Given the description of an element on the screen output the (x, y) to click on. 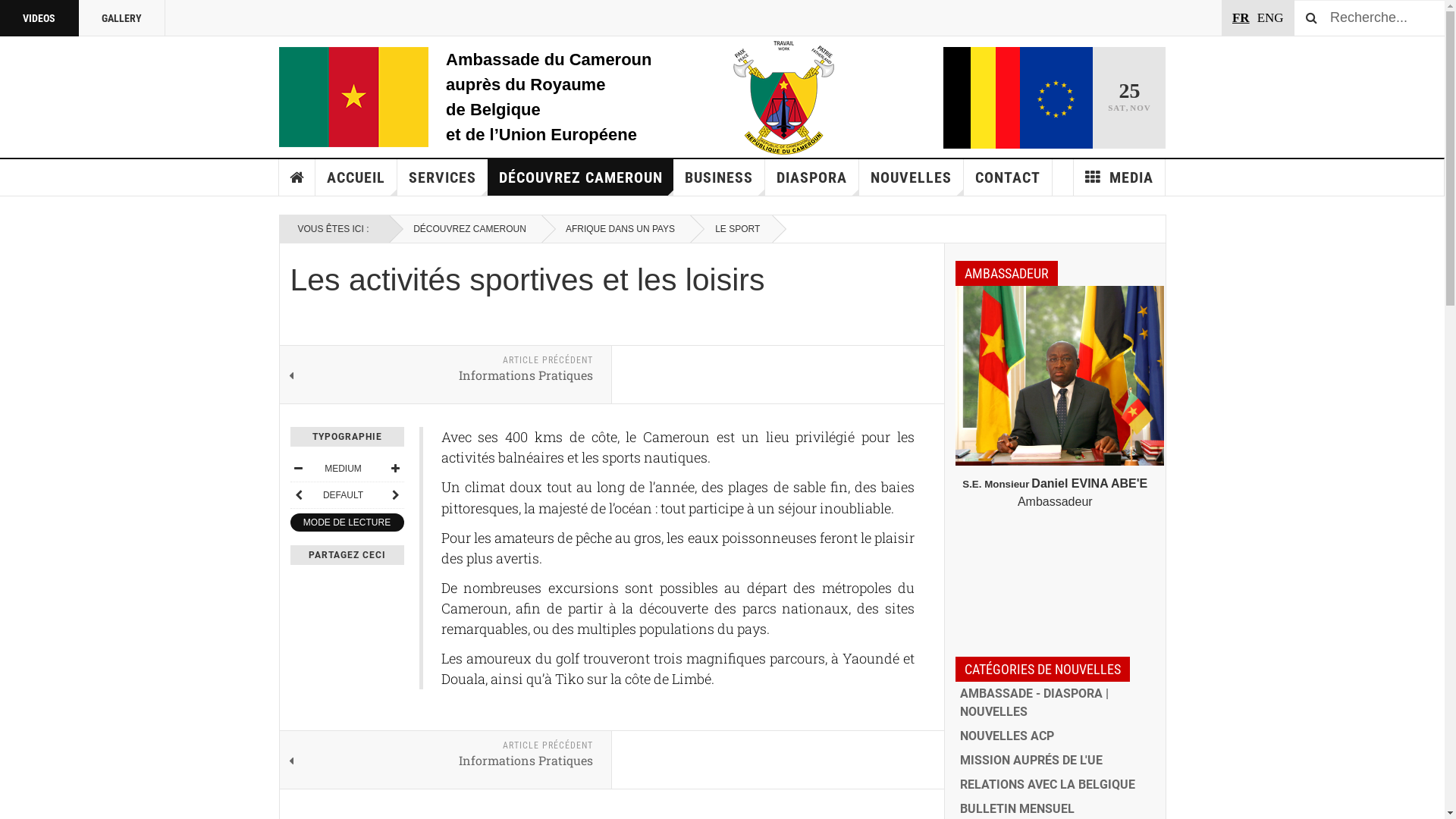
ACCUEIL Element type: text (297, 177)
NOUVELLES Element type: text (911, 177)
MODE DE LECTURE Element type: text (346, 522)
RELATIONS AVEC LA BELGIQUE Element type: text (1054, 784)
NOUVELLES ACP Element type: text (1054, 736)
Bigger Font Element type: hover (394, 468)
GALLERY Element type: text (121, 18)
ENG Element type: text (1270, 17)
VIDEOS Element type: text (39, 18)
BUSINESS Element type: text (719, 177)
ACCUEIL Element type: text (356, 177)
CONTACT Element type: text (1007, 177)
Smaller Font Element type: hover (297, 468)
FR Element type: text (1240, 17)
SERVICES Element type: text (442, 177)
AMBASSADE - DIASPORA | NOUVELLES Element type: text (1054, 702)
AFRIQUE DANS UN PAYS Element type: text (616, 228)
Previous Font Style Element type: hover (297, 494)
DIASPORA Element type: text (812, 177)
Next Font Style Element type: hover (394, 494)
